Given the description of an element on the screen output the (x, y) to click on. 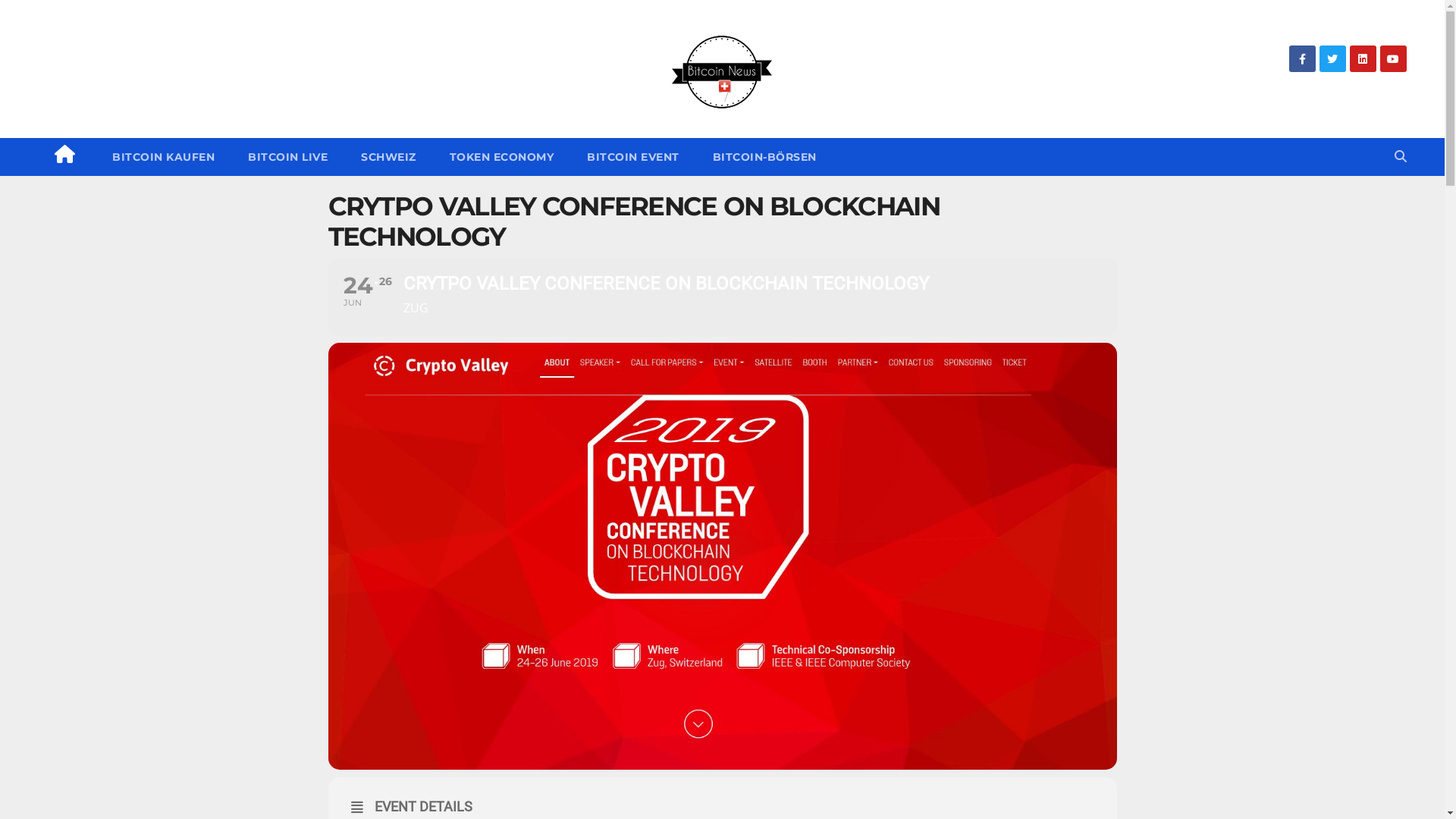
SCHWEIZ Element type: text (388, 156)
 BITCOIN KAUFEN Element type: text (162, 156)
Home Element type: hover (64, 156)
BITCOIN LIVE Element type: text (287, 156)
BITCOIN EVENT Element type: text (633, 156)
TOKEN ECONOMY Element type: text (501, 156)
